Given the description of an element on the screen output the (x, y) to click on. 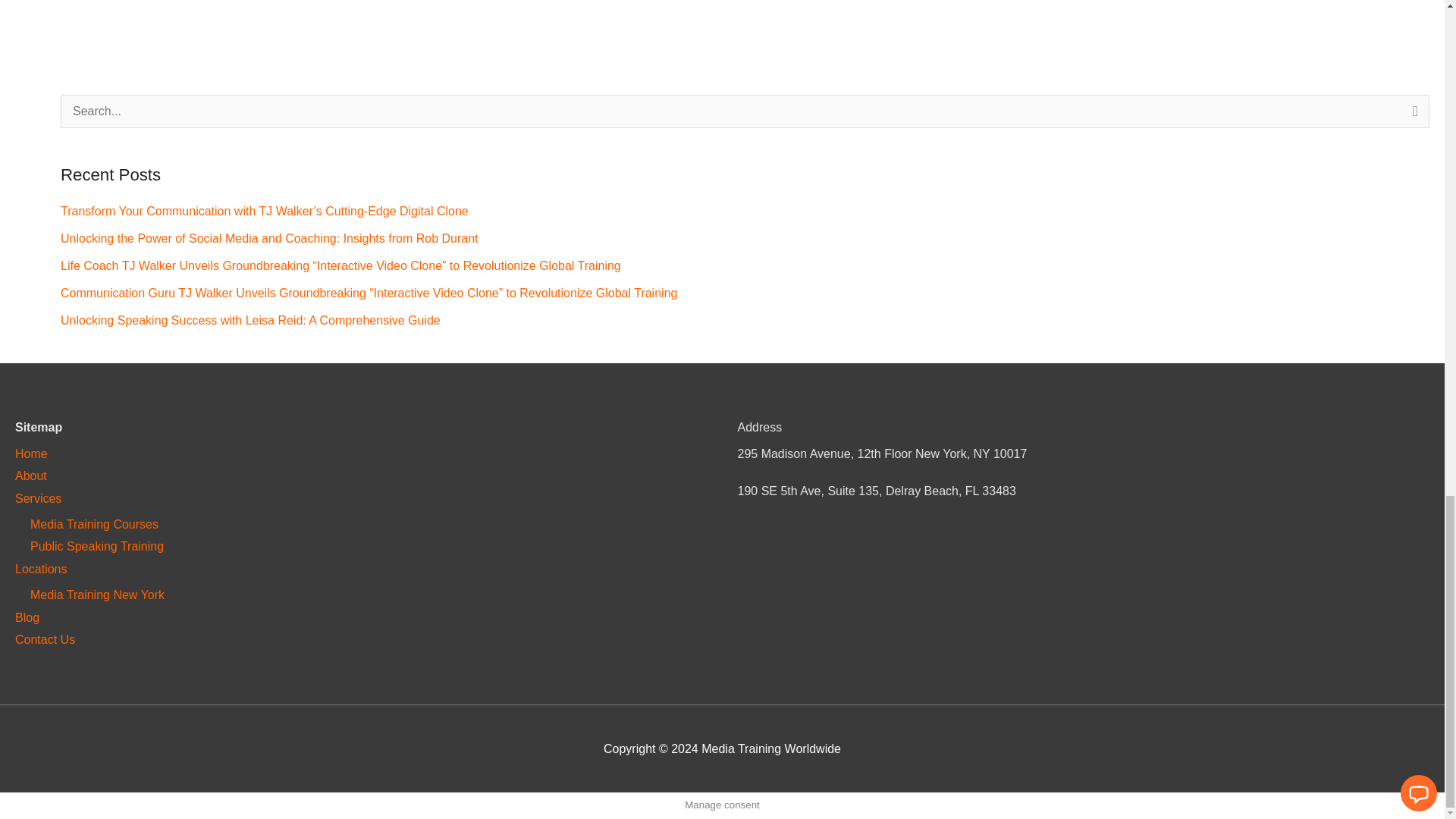
About (30, 475)
Media Training New York (97, 594)
Services (37, 498)
Locations (40, 568)
Home (31, 453)
Blog (26, 617)
Contact Us (44, 639)
Public Speaking Training (96, 545)
Media Training Courses (94, 523)
